Given the description of an element on the screen output the (x, y) to click on. 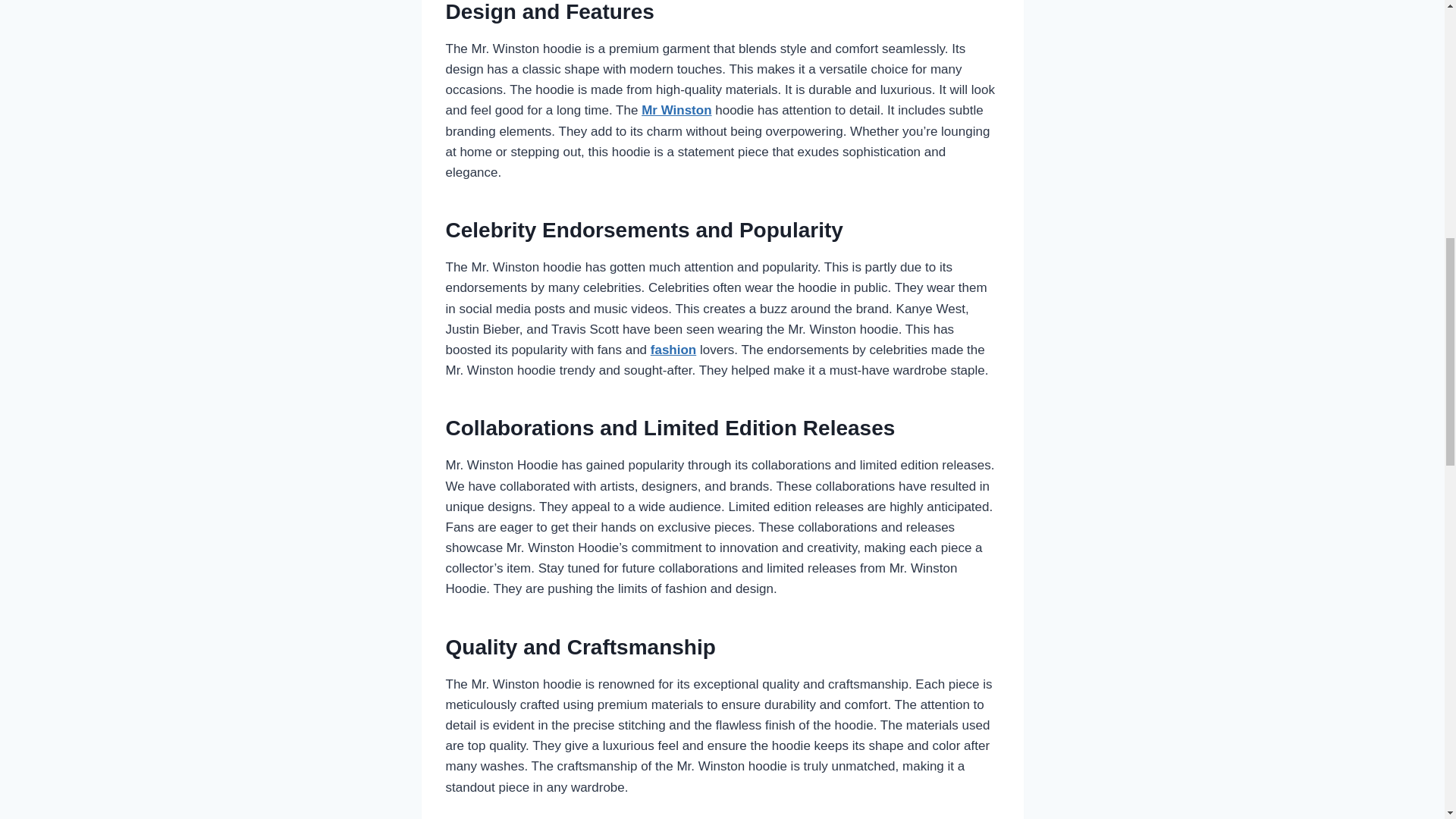
Mr Winston (676, 110)
fashion (672, 350)
